Given the description of an element on the screen output the (x, y) to click on. 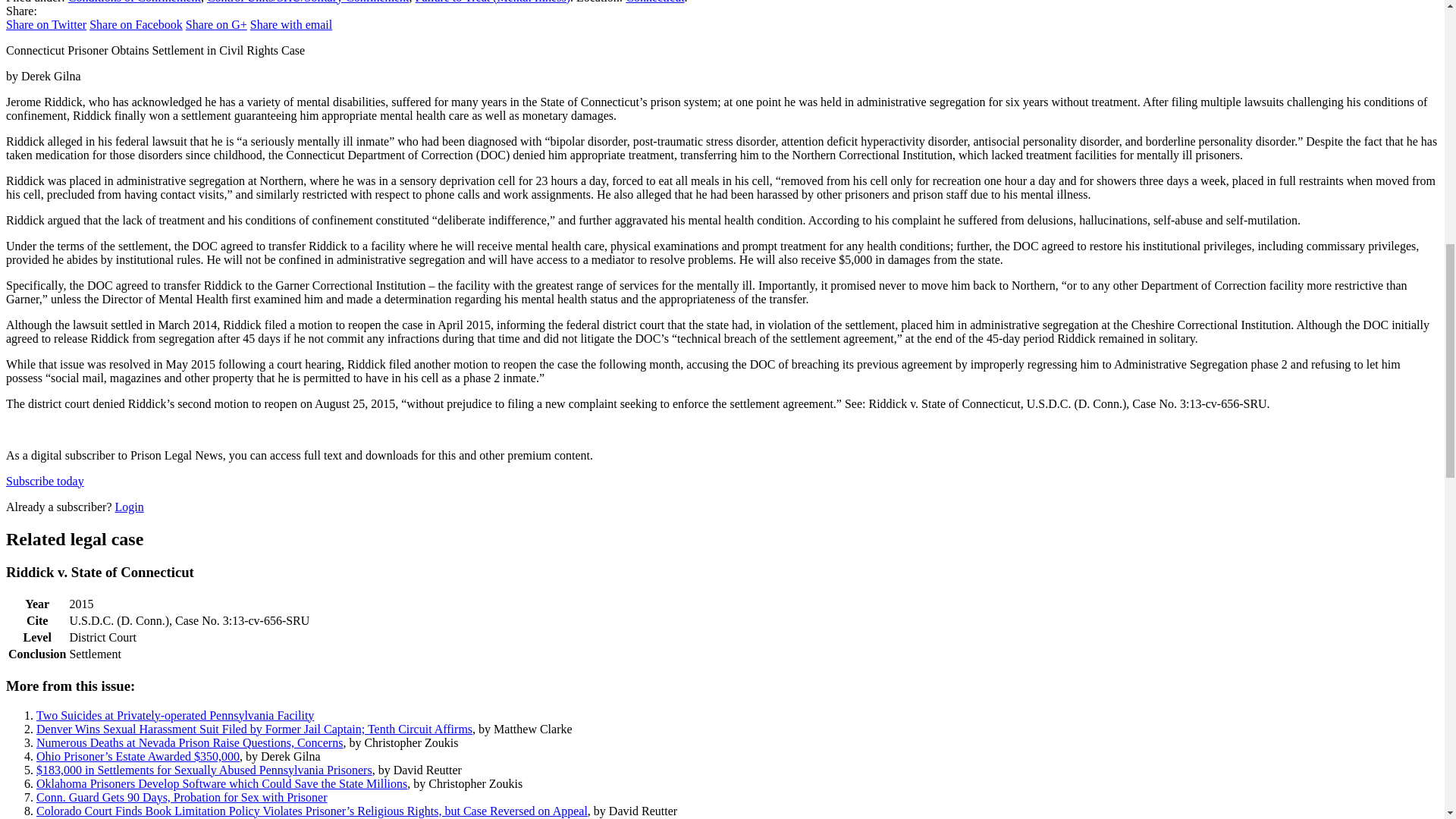
Share with email (290, 24)
Share on Facebook (135, 24)
Share on Twitter (45, 24)
